Given the description of an element on the screen output the (x, y) to click on. 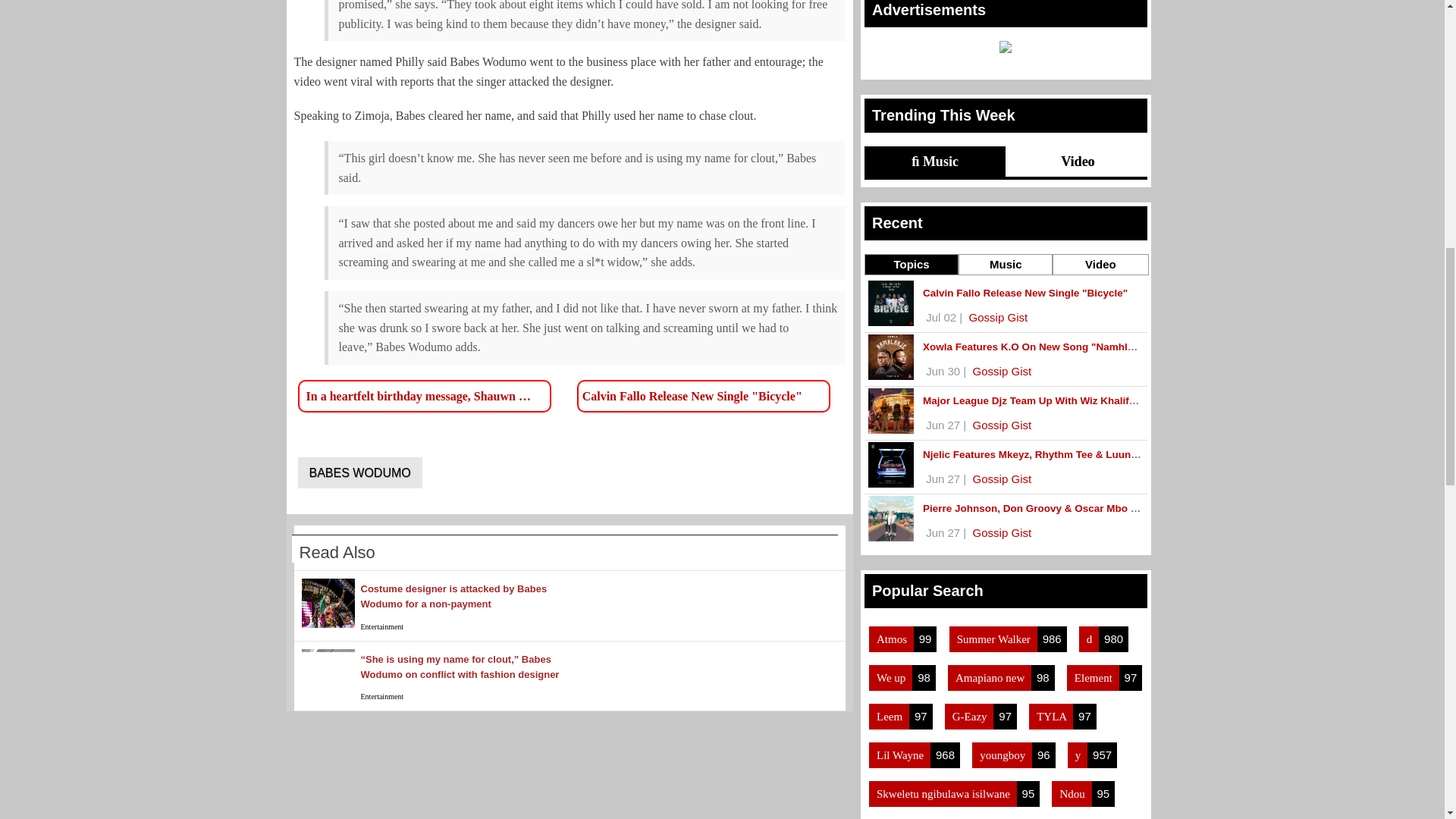
BABES WODUMO (359, 472)
Calvin Fallo Release New Single "Bicycle" (693, 395)
Gossip Gist (1002, 424)
Gossip Gist (1002, 478)
Gossip Gist (1002, 370)
Calvin Fallo Release New Single Bicycle (1024, 292)
Calvin Fallo Release New Single "Bicycle" (693, 395)
Gossip Gist (1002, 532)
